Given the description of an element on the screen output the (x, y) to click on. 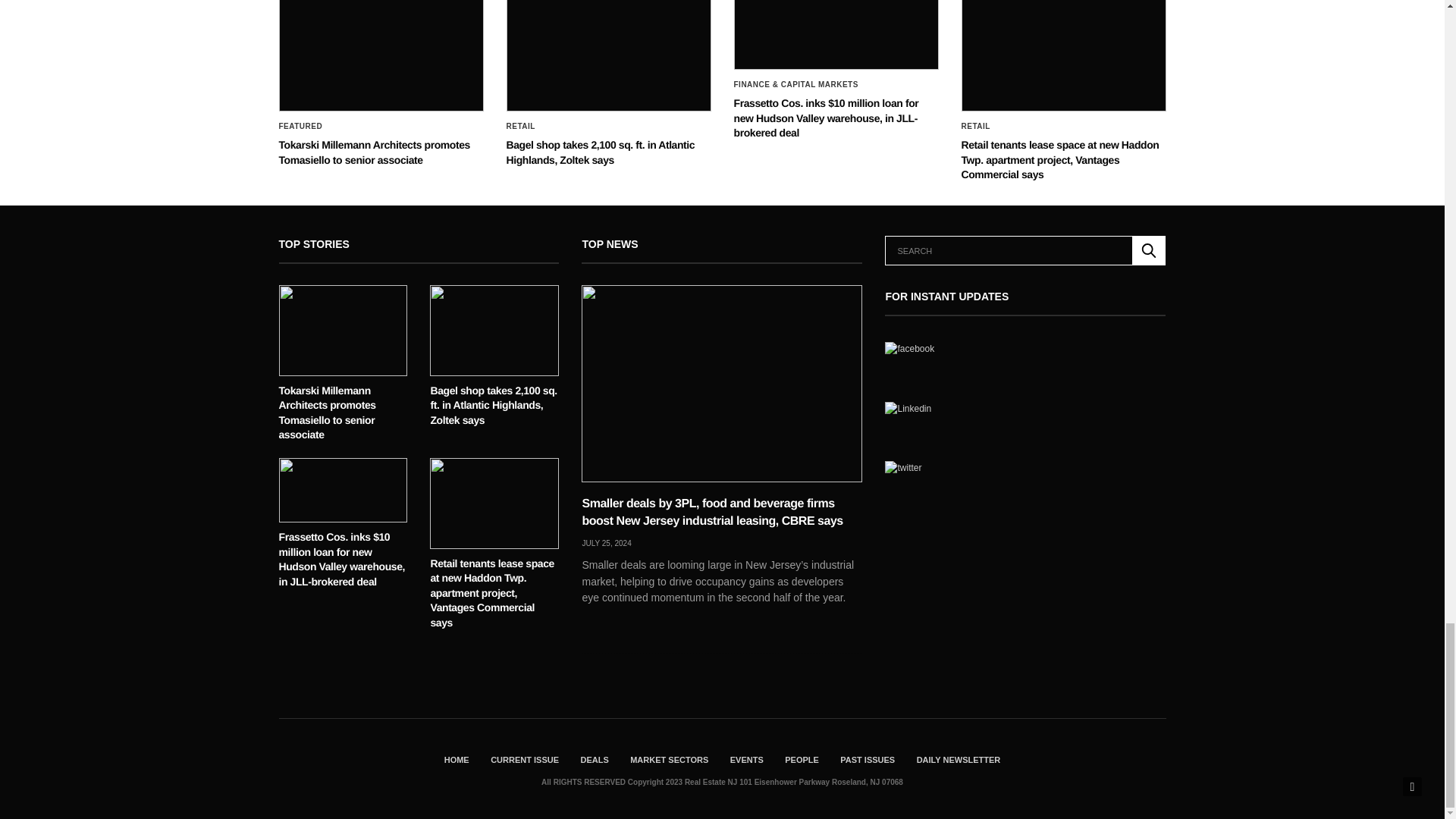
Search (1149, 250)
